Given the description of an element on the screen output the (x, y) to click on. 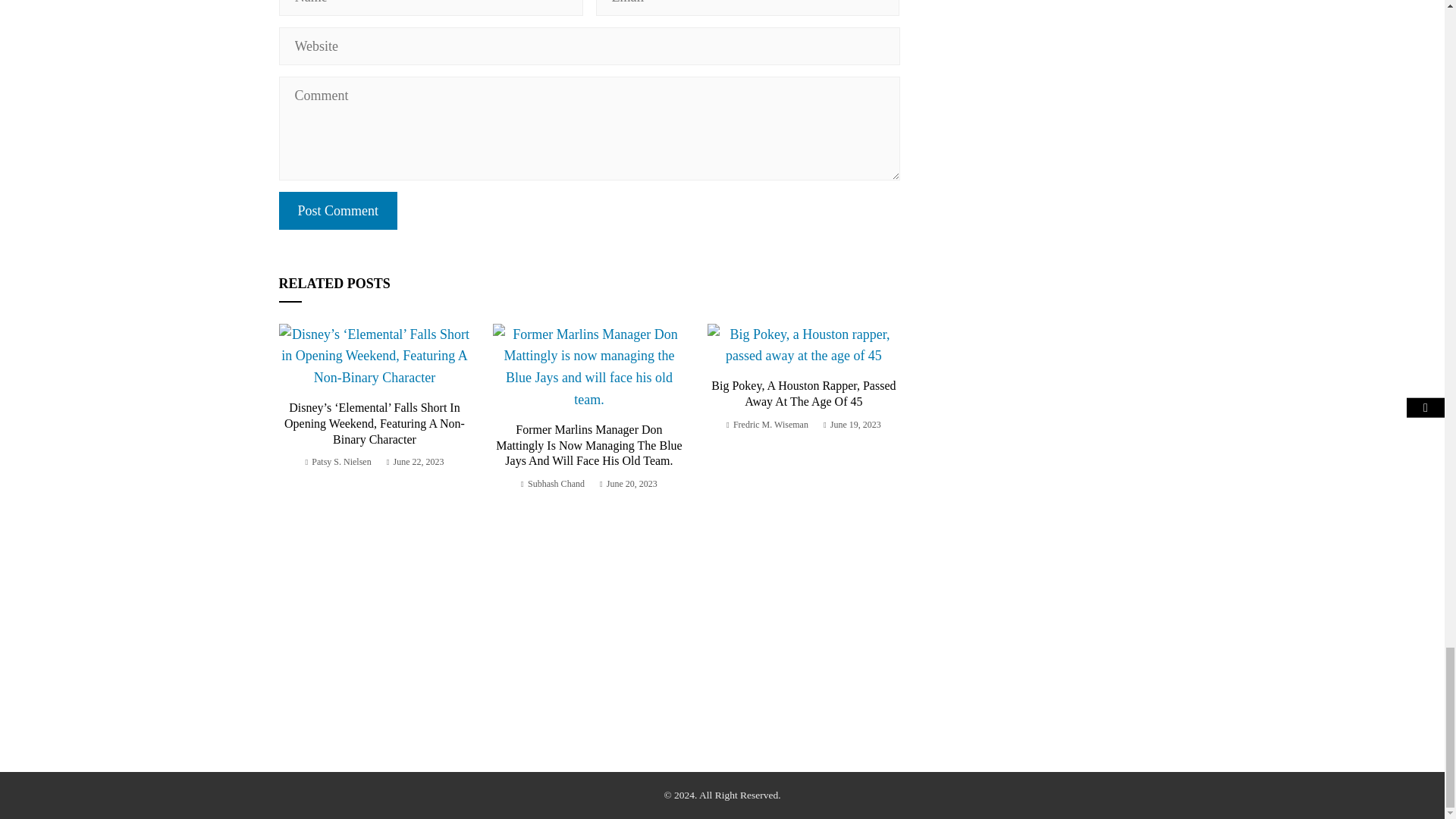
Post Comment (338, 210)
